Given the description of an element on the screen output the (x, y) to click on. 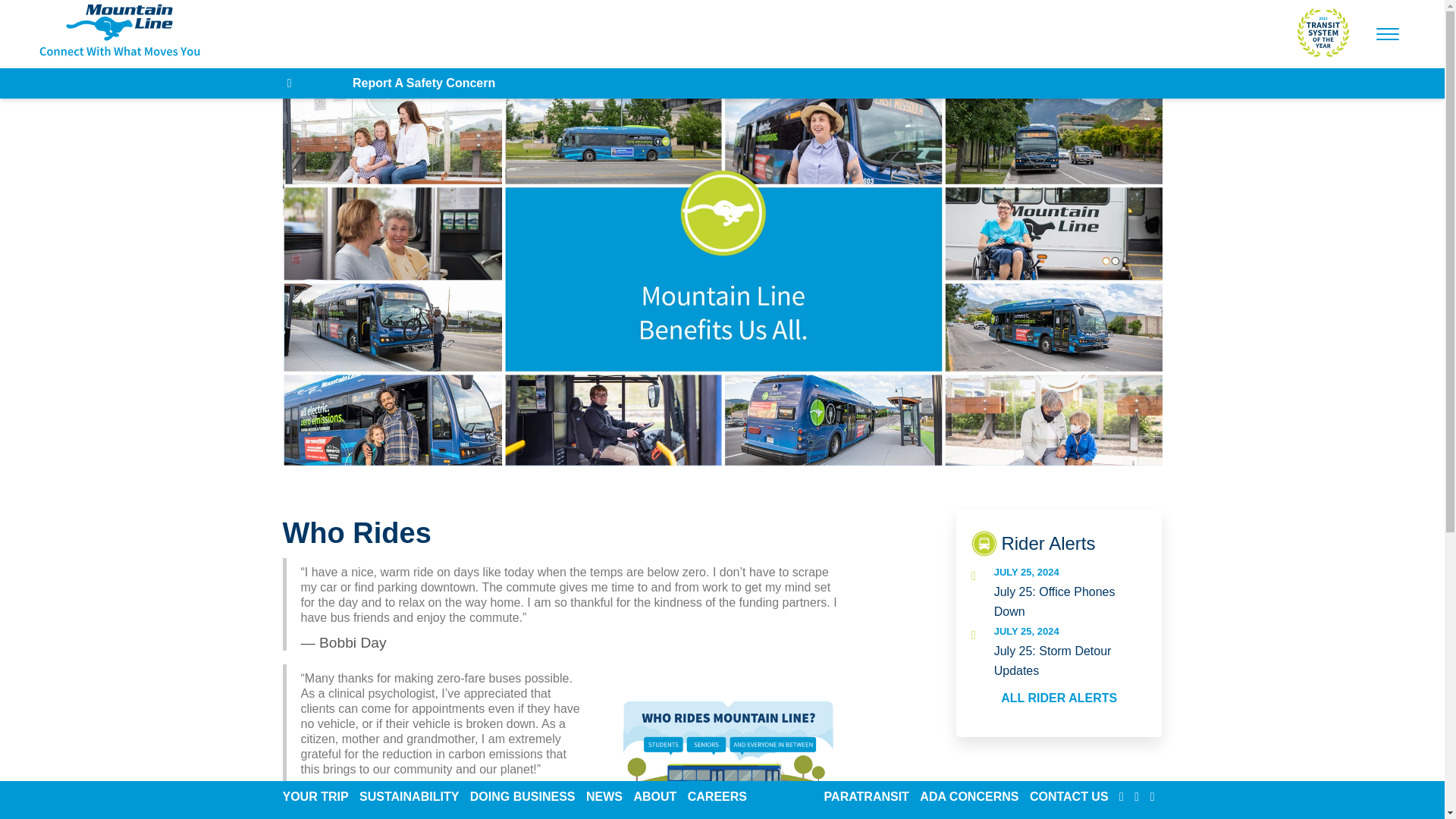
Report A Safety Concern (423, 82)
